Given the description of an element on the screen output the (x, y) to click on. 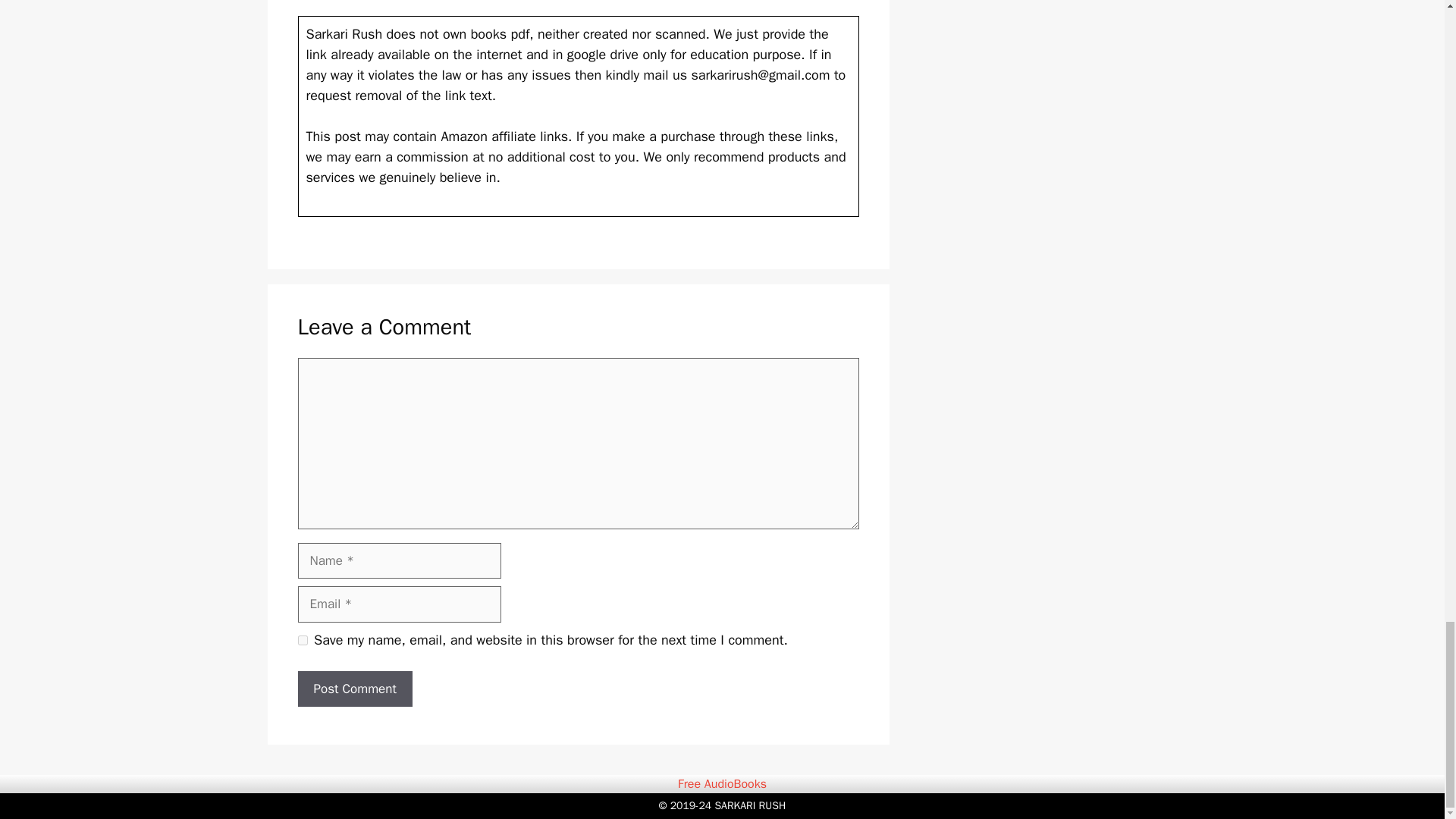
Post Comment (354, 688)
yes (302, 640)
